Given the description of an element on the screen output the (x, y) to click on. 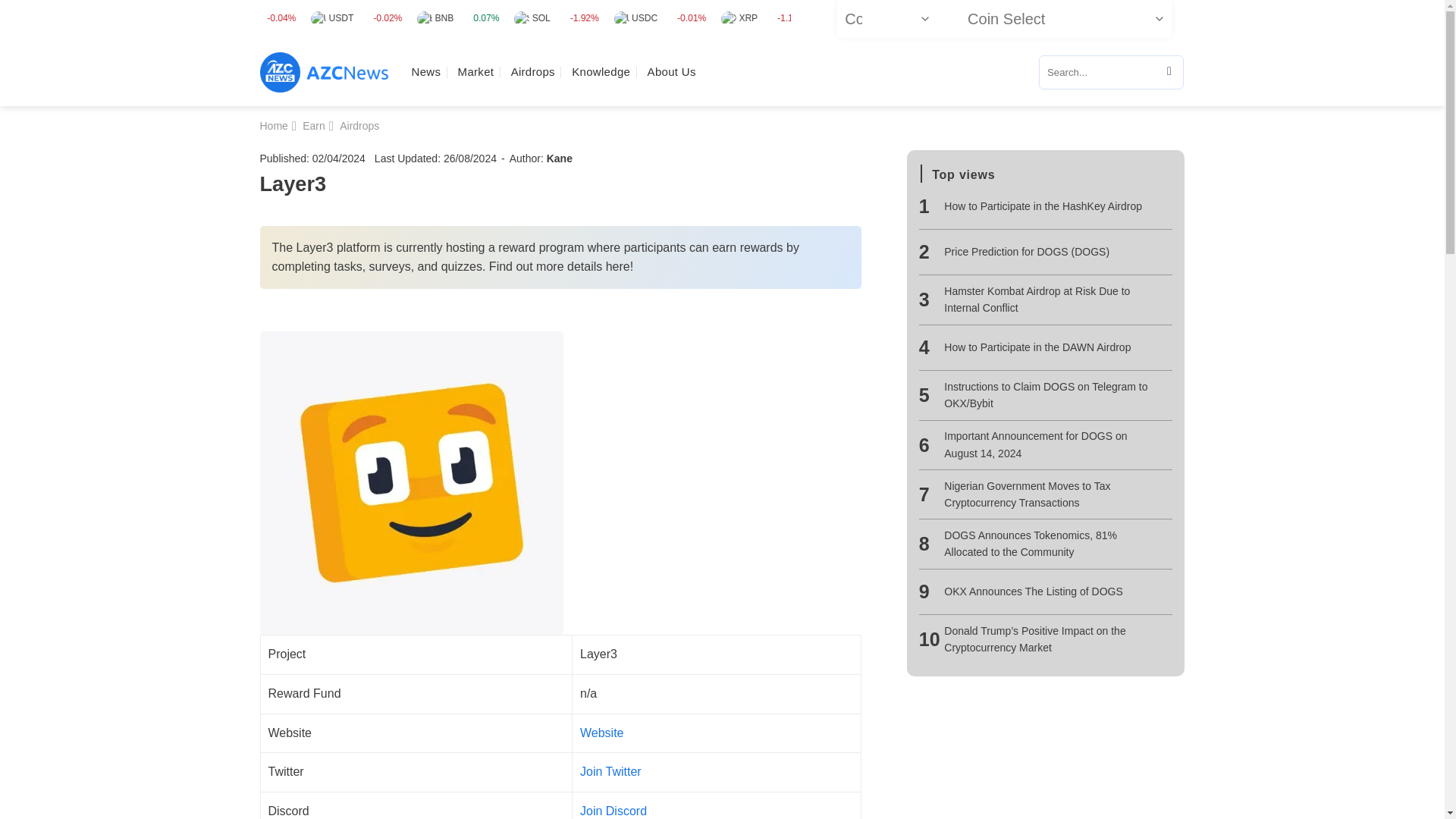
About Us (671, 71)
How to Participate in the HashKey Airdrop (1050, 206)
Join Discord (612, 810)
Home (272, 125)
How to Participate in the DAWN Airdrop (1050, 347)
Kane (559, 157)
AZC.News - Cryptocurrency News Daily (323, 72)
News (425, 71)
Airdrops (532, 71)
Layer3 2 (410, 482)
